Given the description of an element on the screen output the (x, y) to click on. 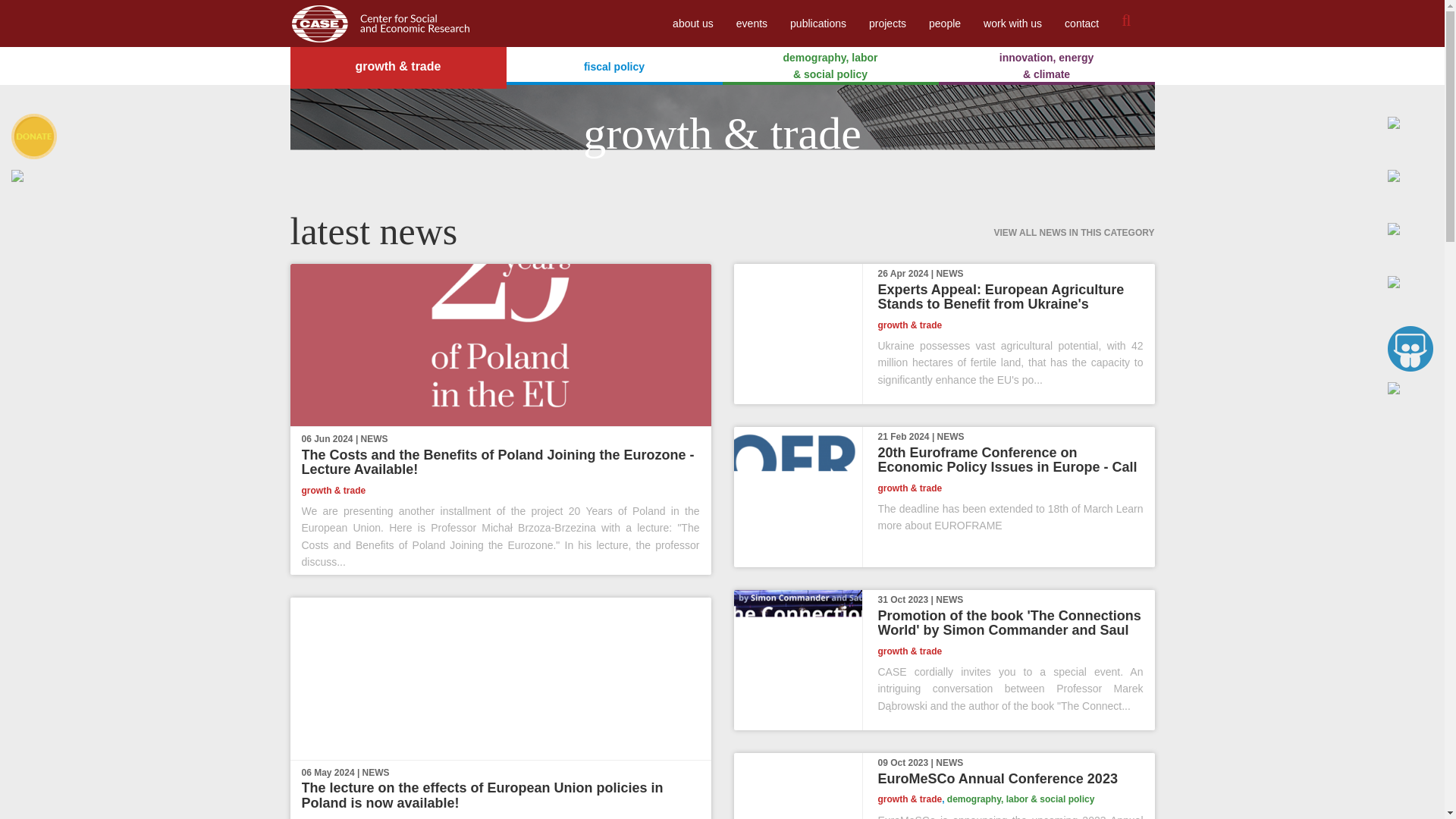
people (944, 22)
fiscal policy (614, 65)
EuroMeSCo Annual Conference 2023 (997, 778)
events (751, 22)
contact (1080, 22)
about us (693, 22)
EuroMeSCo Annual Conference 2023 (997, 778)
publications (817, 22)
work with us (1012, 22)
